Given the description of an element on the screen output the (x, y) to click on. 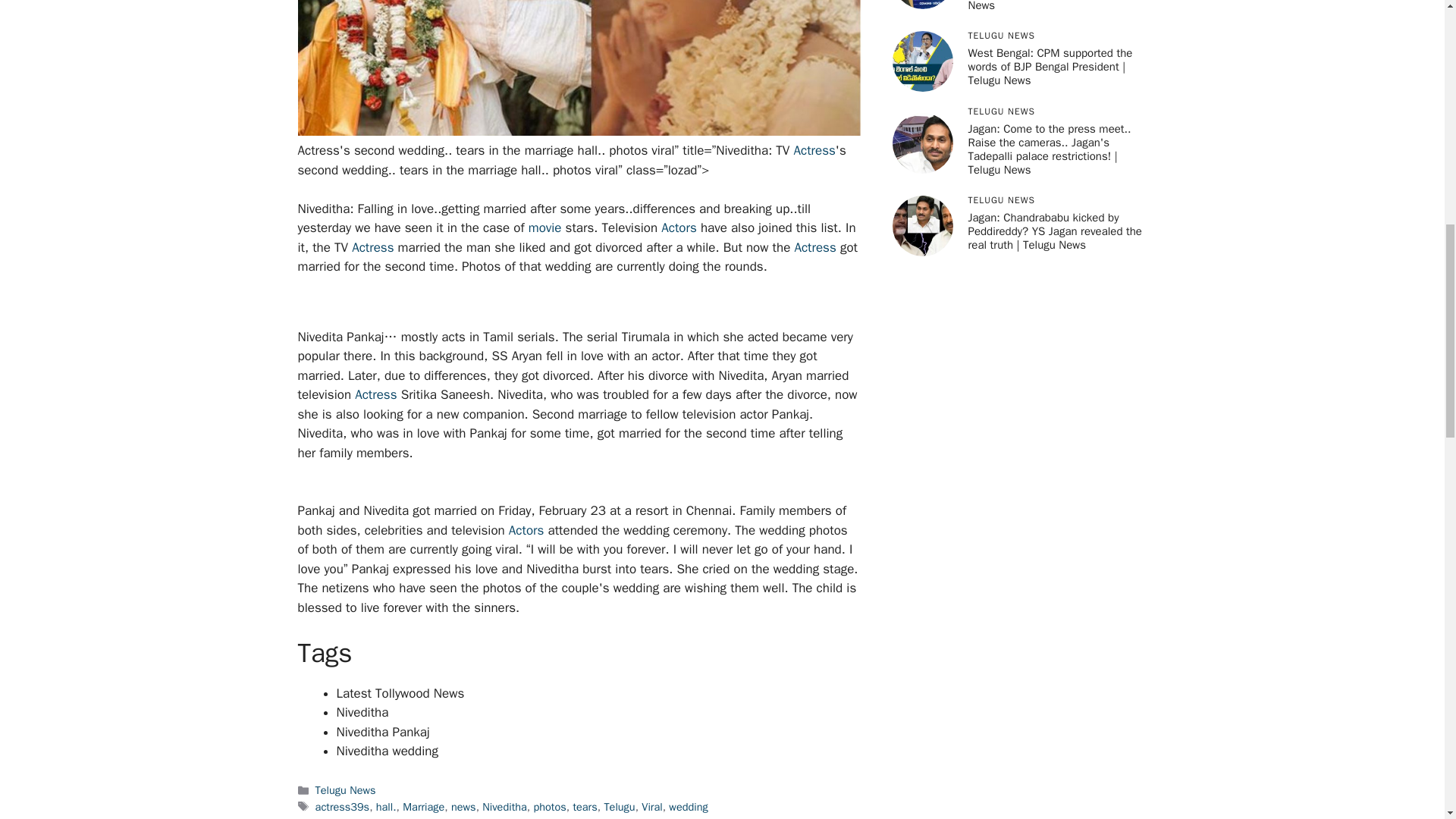
Actress (372, 247)
Scroll back to top (1406, 720)
Telugu News (345, 789)
Marriage (423, 807)
Actors (526, 529)
Actress (375, 394)
wedding (687, 807)
Actress (813, 150)
tears (584, 807)
Actors (679, 227)
actress39s (342, 807)
Telugu (619, 807)
Niveditha (504, 807)
photos (549, 807)
Actress (814, 247)
